Given the description of an element on the screen output the (x, y) to click on. 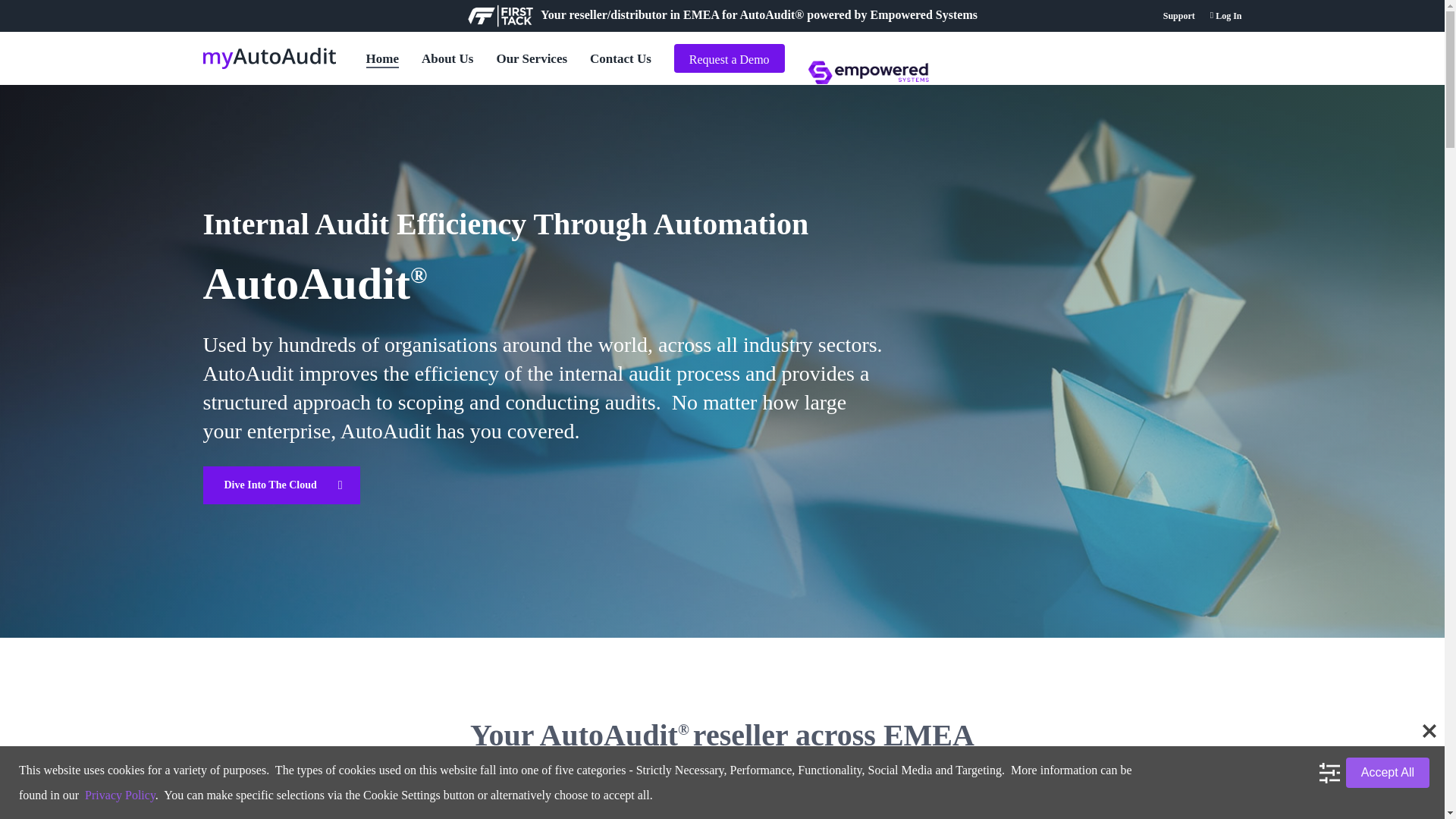
Dive Into The Cloud (281, 485)
Contact Us (619, 57)
Log In (1225, 15)
Support (1179, 15)
autoaudit internal audit software (868, 72)
Home (381, 57)
About Us (448, 57)
Menu (1415, 7)
Our Services (531, 57)
Request a Demo (729, 58)
